Given the description of an element on the screen output the (x, y) to click on. 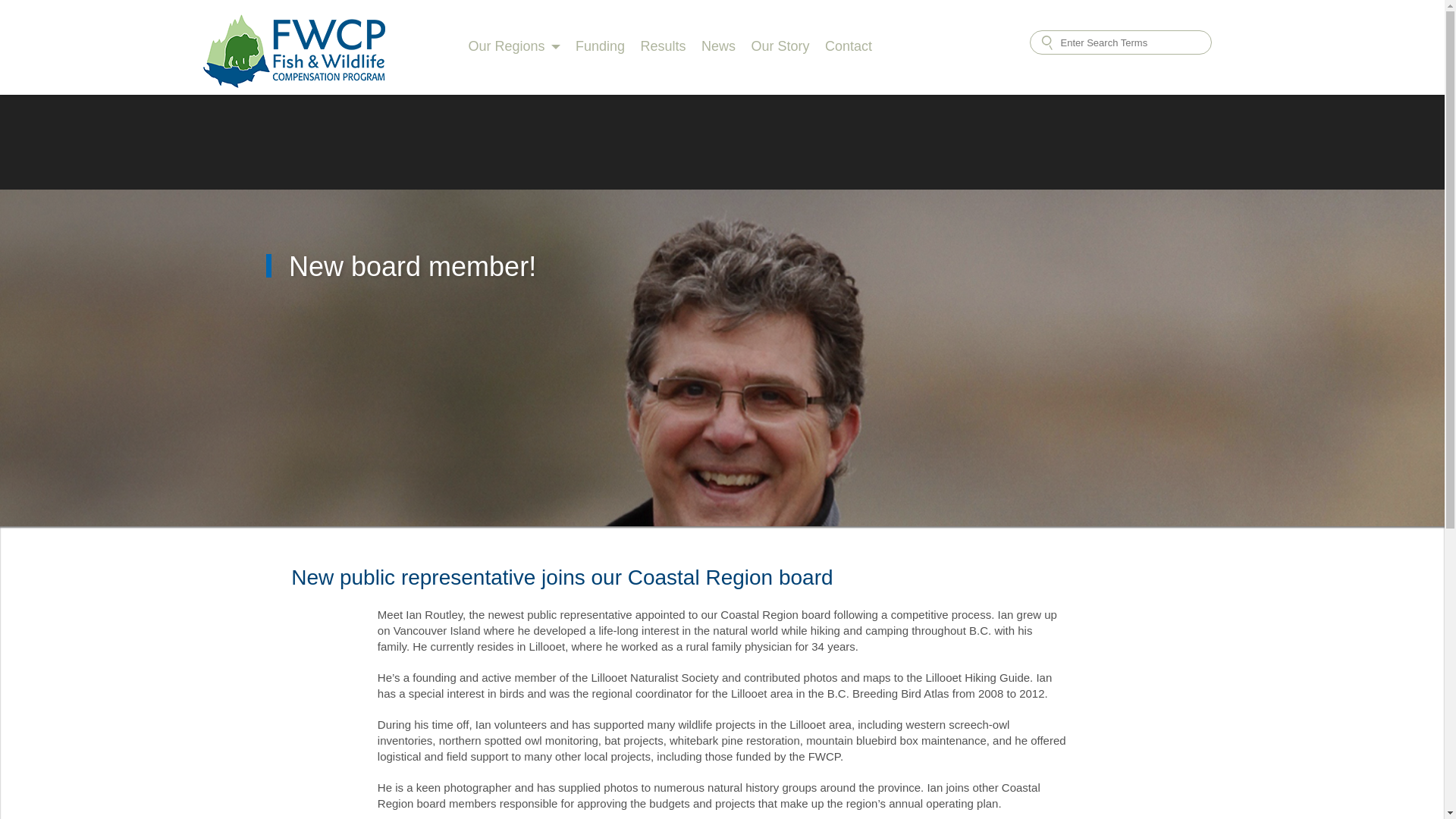
Funding (599, 46)
Our Story (780, 46)
Results (662, 46)
Contact (848, 46)
News (718, 46)
Fish and Wildlife Compensation Program (294, 32)
Our Regions (506, 46)
